Given the description of an element on the screen output the (x, y) to click on. 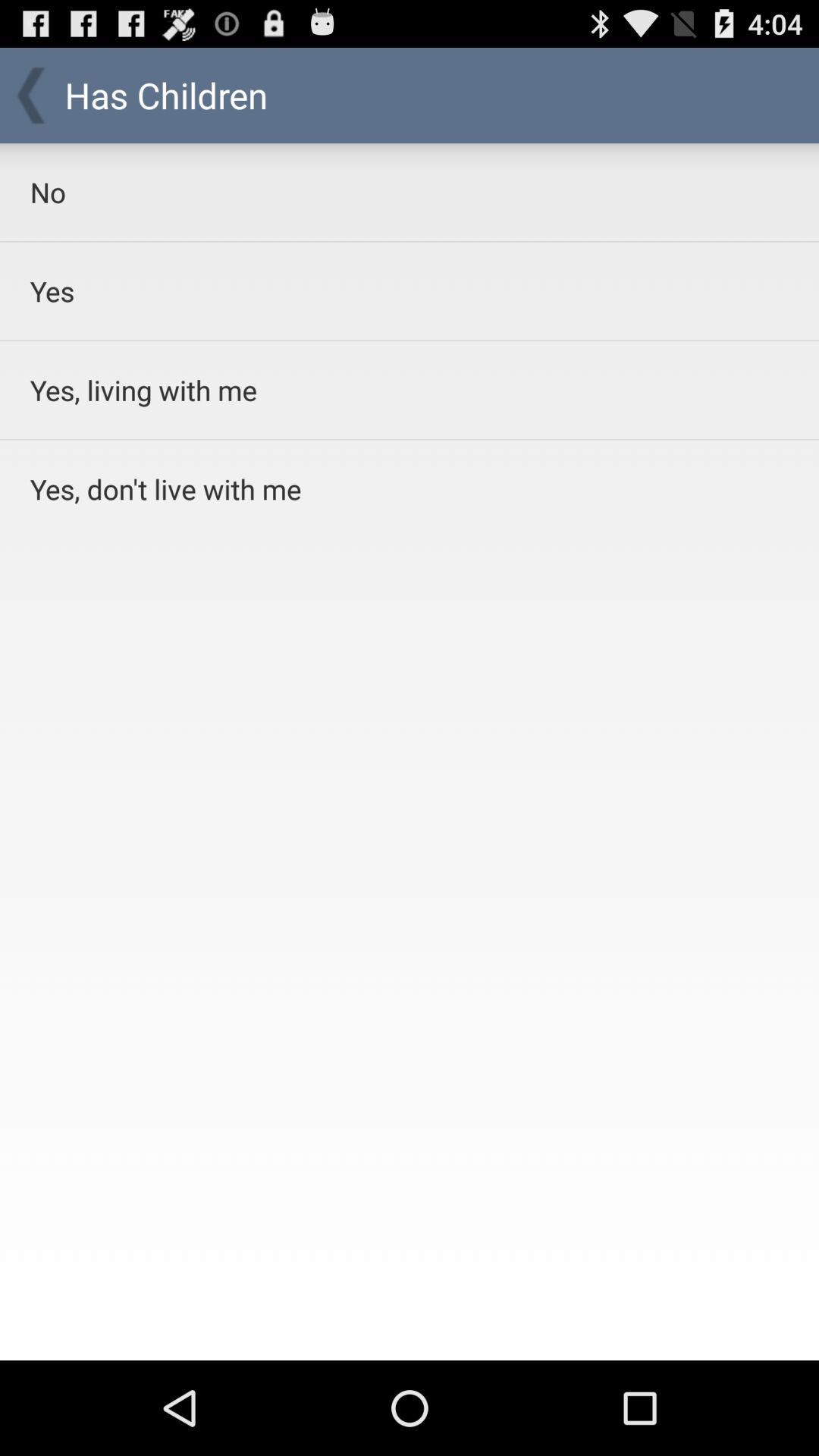
click the no icon (371, 192)
